Given the description of an element on the screen output the (x, y) to click on. 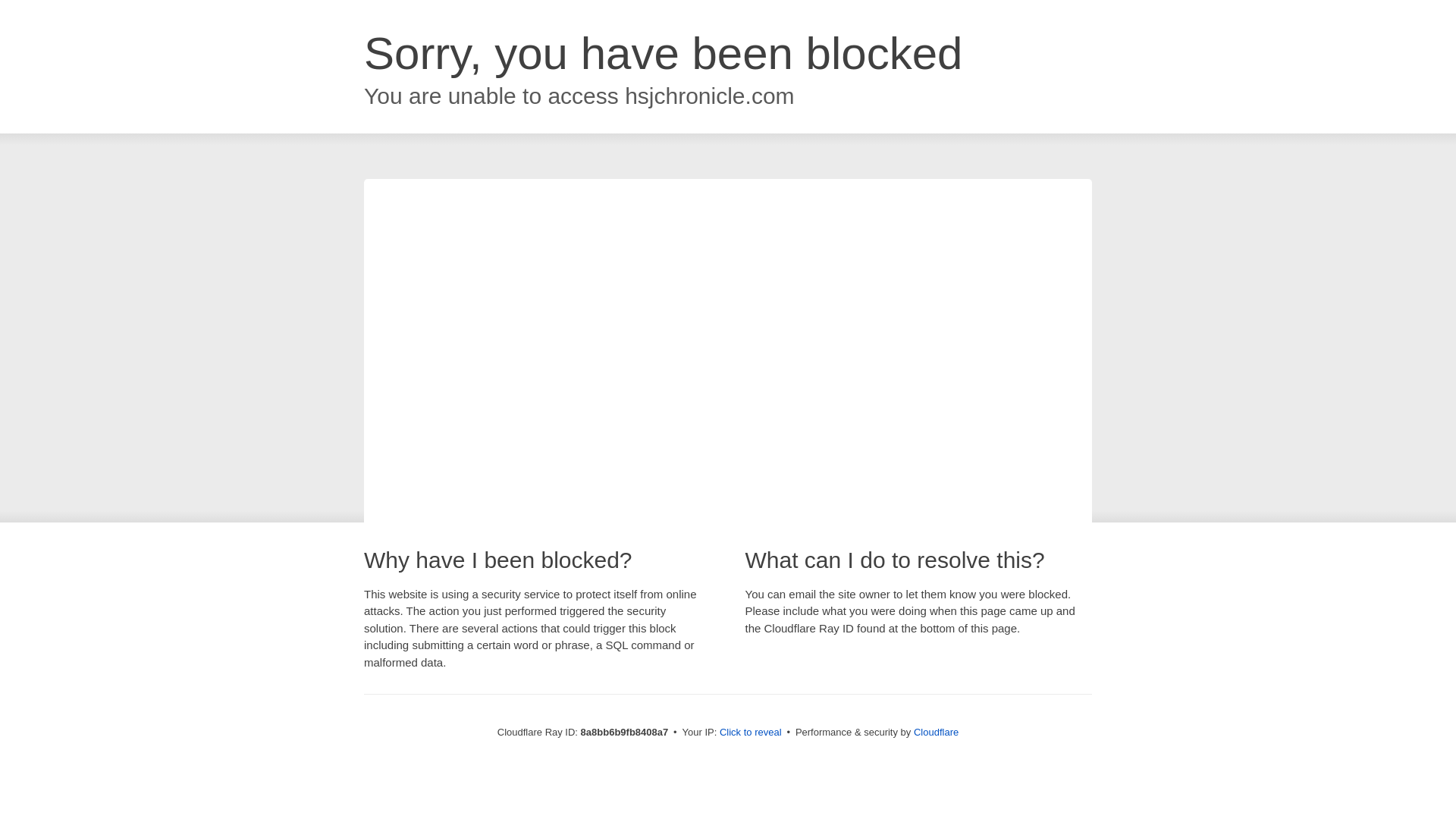
Click to reveal (750, 732)
Cloudflare (936, 731)
